Given the description of an element on the screen output the (x, y) to click on. 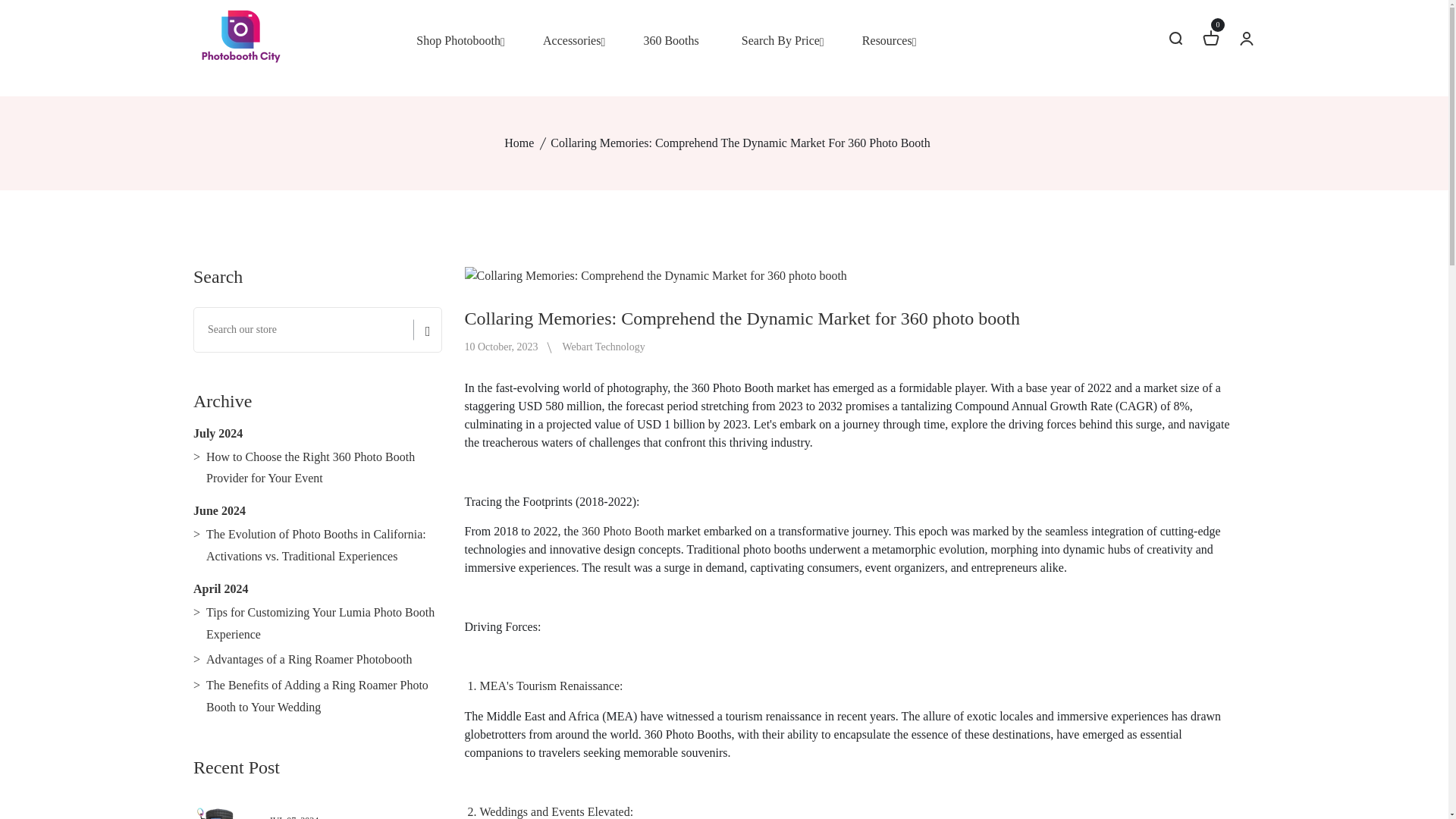
Search By Price (780, 40)
Back to the home page (518, 142)
Shop Photobooth (458, 40)
